Given the description of an element on the screen output the (x, y) to click on. 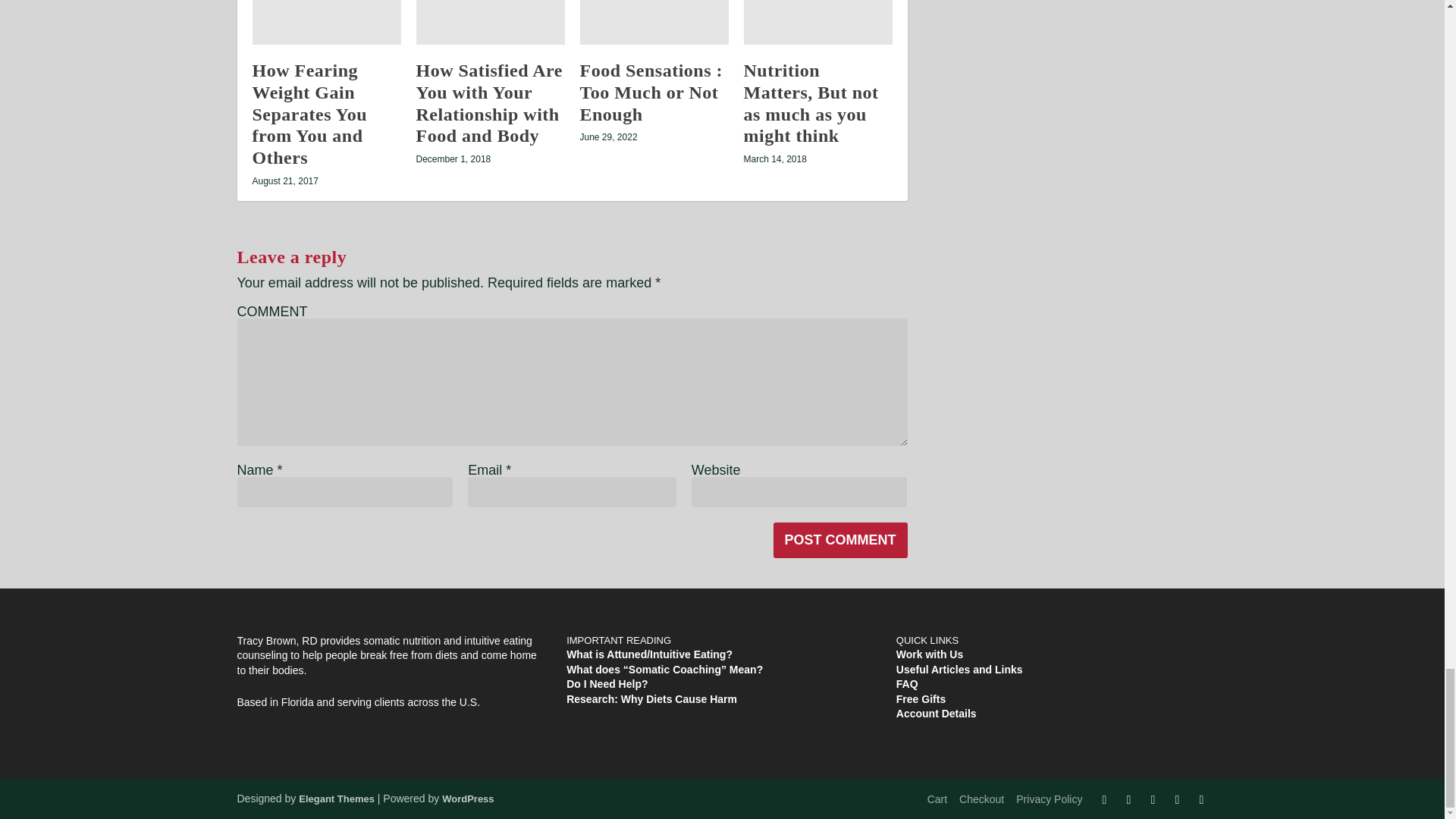
Post Comment (840, 539)
